Given the description of an element on the screen output the (x, y) to click on. 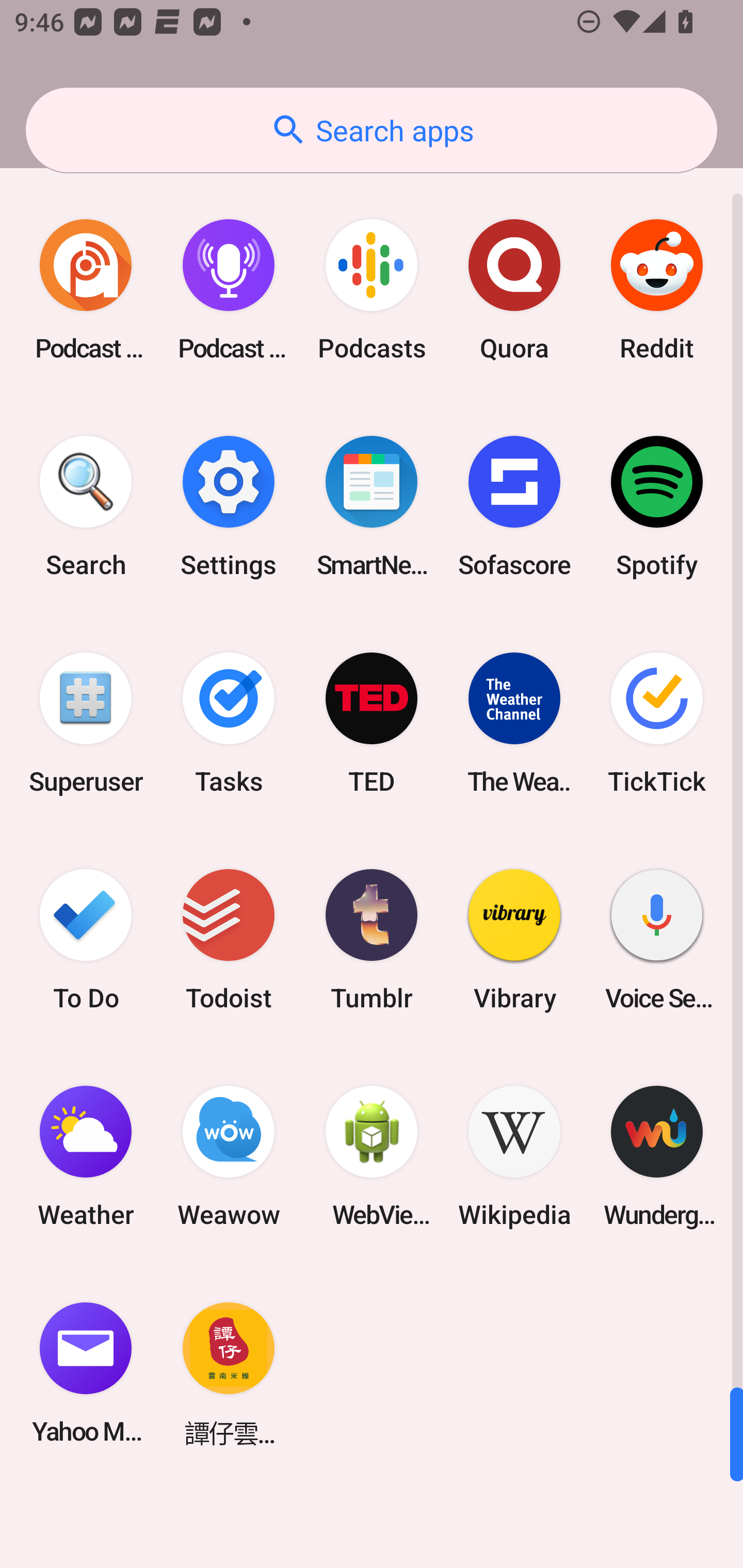
  Search apps (371, 130)
Podcast Addict (85, 289)
Podcast Player (228, 289)
Podcasts (371, 289)
Quora (514, 289)
Reddit (656, 289)
Search (85, 506)
Settings (228, 506)
SmartNews (371, 506)
Sofascore (514, 506)
Spotify (656, 506)
Superuser (85, 722)
Tasks (228, 722)
TED (371, 722)
The Weather Channel (514, 722)
TickTick (656, 722)
To Do (85, 939)
Todoist (228, 939)
Tumblr (371, 939)
Vibrary (514, 939)
Voice Search (656, 939)
Weather (85, 1156)
Weawow (228, 1156)
WebView Browser Tester (371, 1156)
Wikipedia (514, 1156)
Wunderground (656, 1156)
Yahoo Mail (85, 1373)
譚仔雲南米線 (228, 1373)
